Given the description of an element on the screen output the (x, y) to click on. 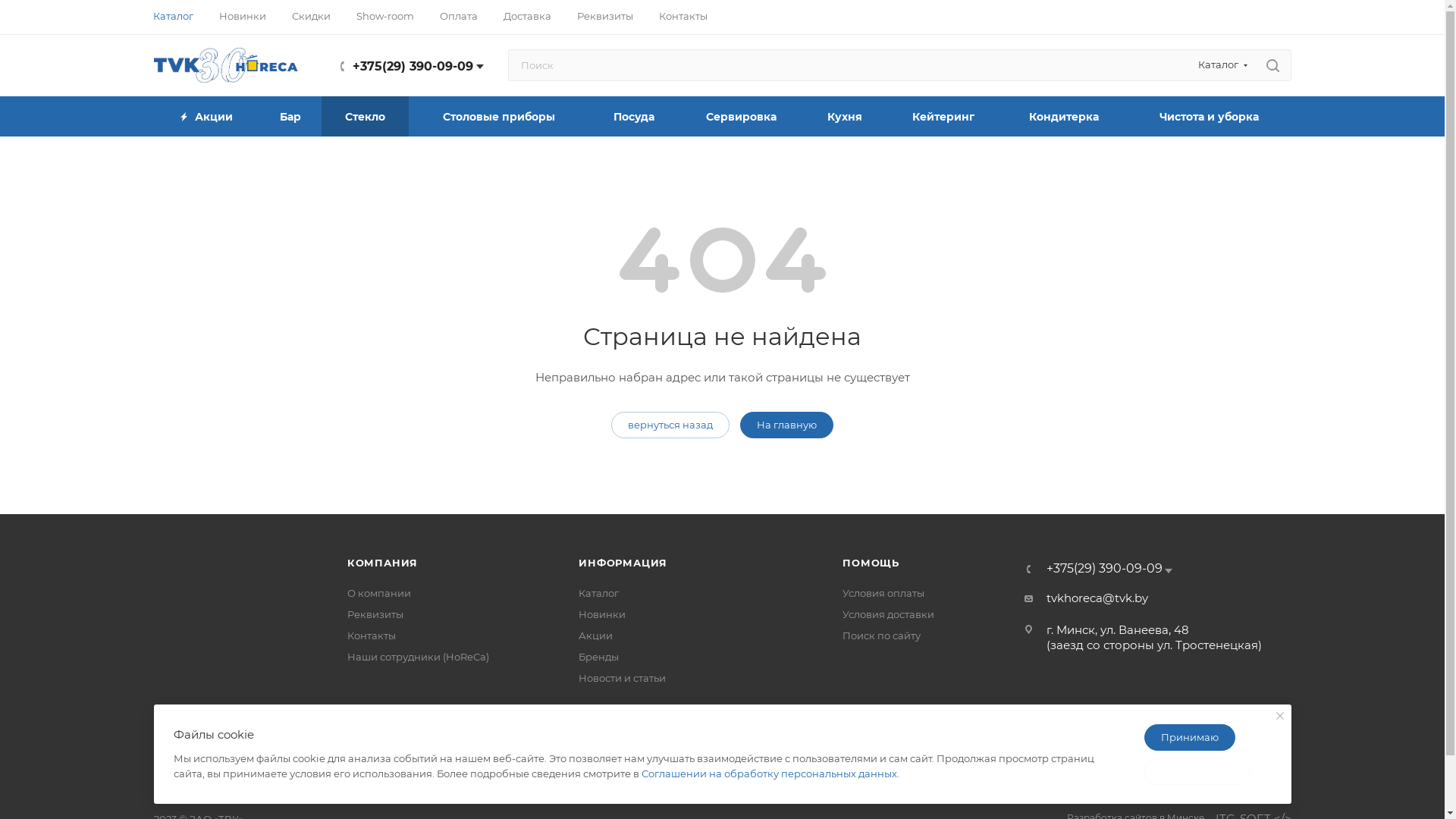
+375(29) 390-09-09 Element type: text (411, 66)
+375(29) 390-09-09 Element type: text (1104, 568)
Instagram Element type: text (703, 757)
tvkhoreca@tvk.by Element type: text (1097, 597)
Viber Element type: text (780, 757)
Telegram Element type: text (740, 757)
Show-room Element type: text (385, 15)
Facebook Element type: text (663, 757)
